Given the description of an element on the screen output the (x, y) to click on. 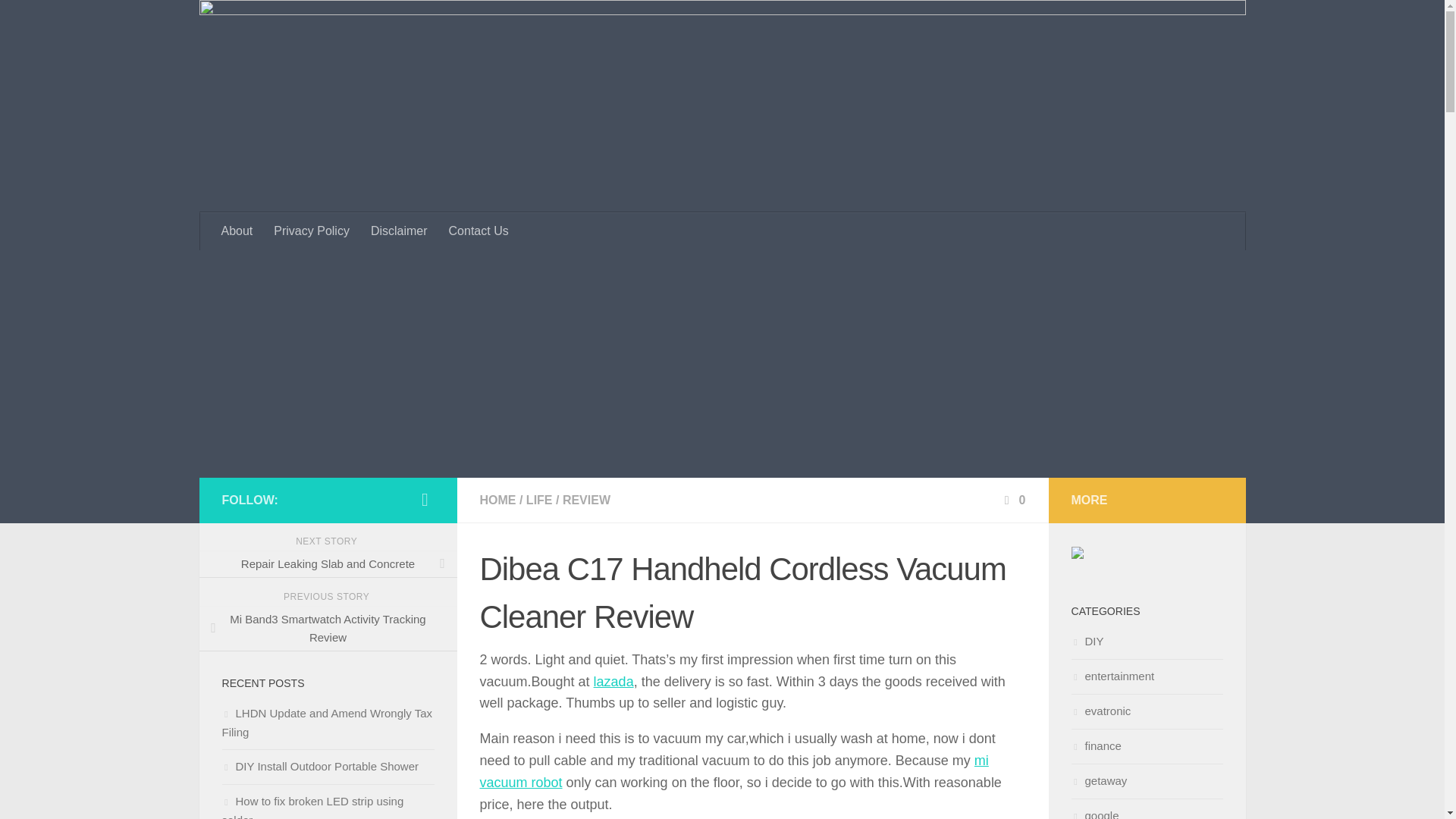
HOME (497, 499)
Skip to content (63, 20)
Privacy Policy (311, 231)
0 (1013, 499)
lazada (613, 681)
mi vacuum robot (733, 771)
Disclaimer (398, 231)
LIFE (539, 499)
REVIEW (586, 499)
